Given the description of an element on the screen output the (x, y) to click on. 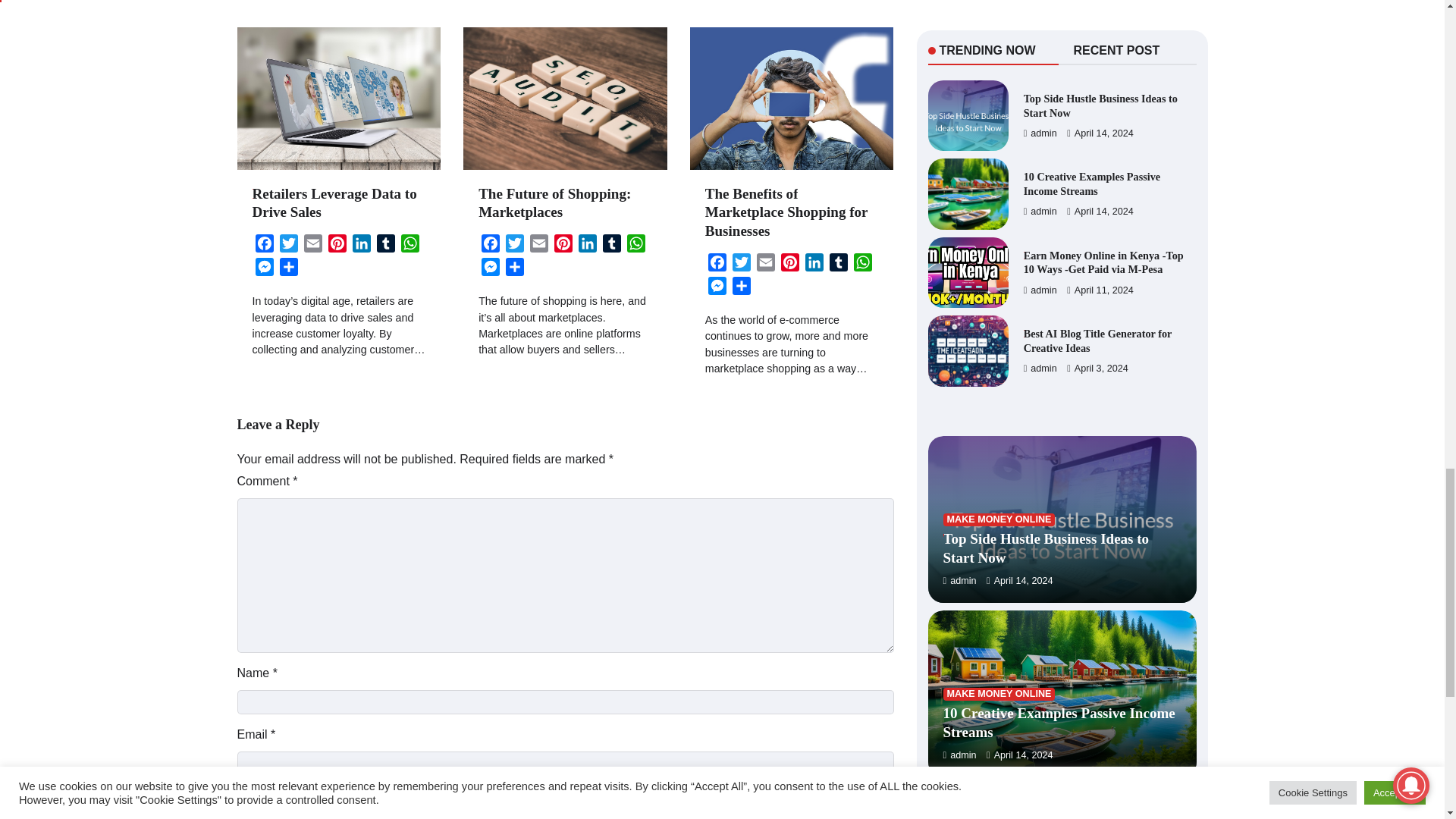
Email (311, 245)
WhatsApp (409, 245)
Tumblr (384, 245)
The Future of Shopping: Marketplaces (554, 202)
Facebook (263, 245)
Twitter (287, 245)
Twitter (287, 245)
Messenger (263, 269)
Pinterest (336, 245)
LinkedIn (360, 245)
Pinterest (336, 245)
Email (311, 245)
Facebook (263, 245)
LinkedIn (360, 245)
Retailers Leverage Data to Drive Sales (333, 202)
